Given the description of an element on the screen output the (x, y) to click on. 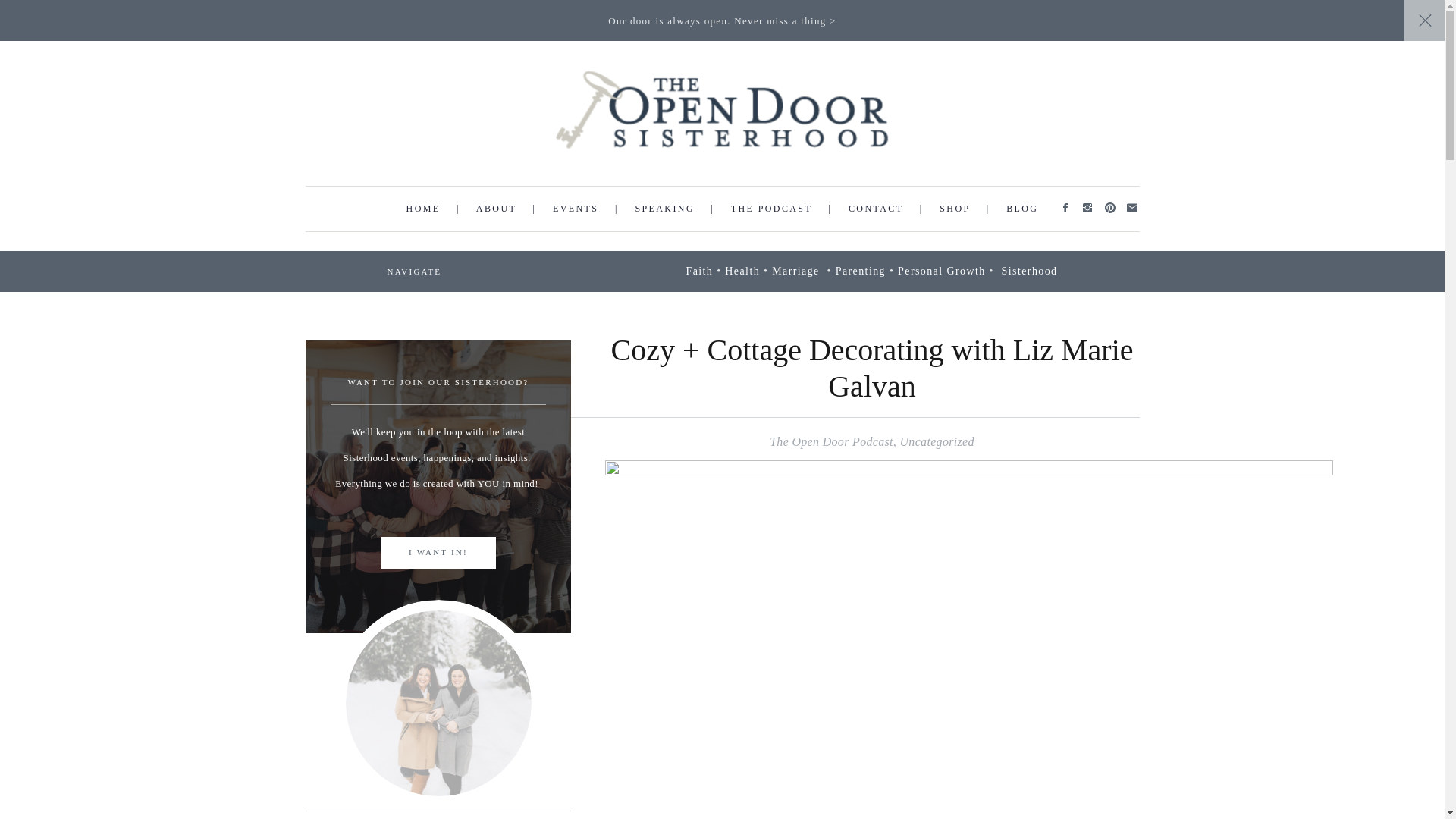
I WANT IN! (437, 552)
BLOG (1022, 208)
Health (742, 270)
EVENTS (575, 208)
Parenting (860, 270)
Marriage (795, 270)
SPEAKING (664, 208)
CONTACT (875, 208)
ABOUT (496, 208)
THE PODCAST (771, 208)
